Given the description of an element on the screen output the (x, y) to click on. 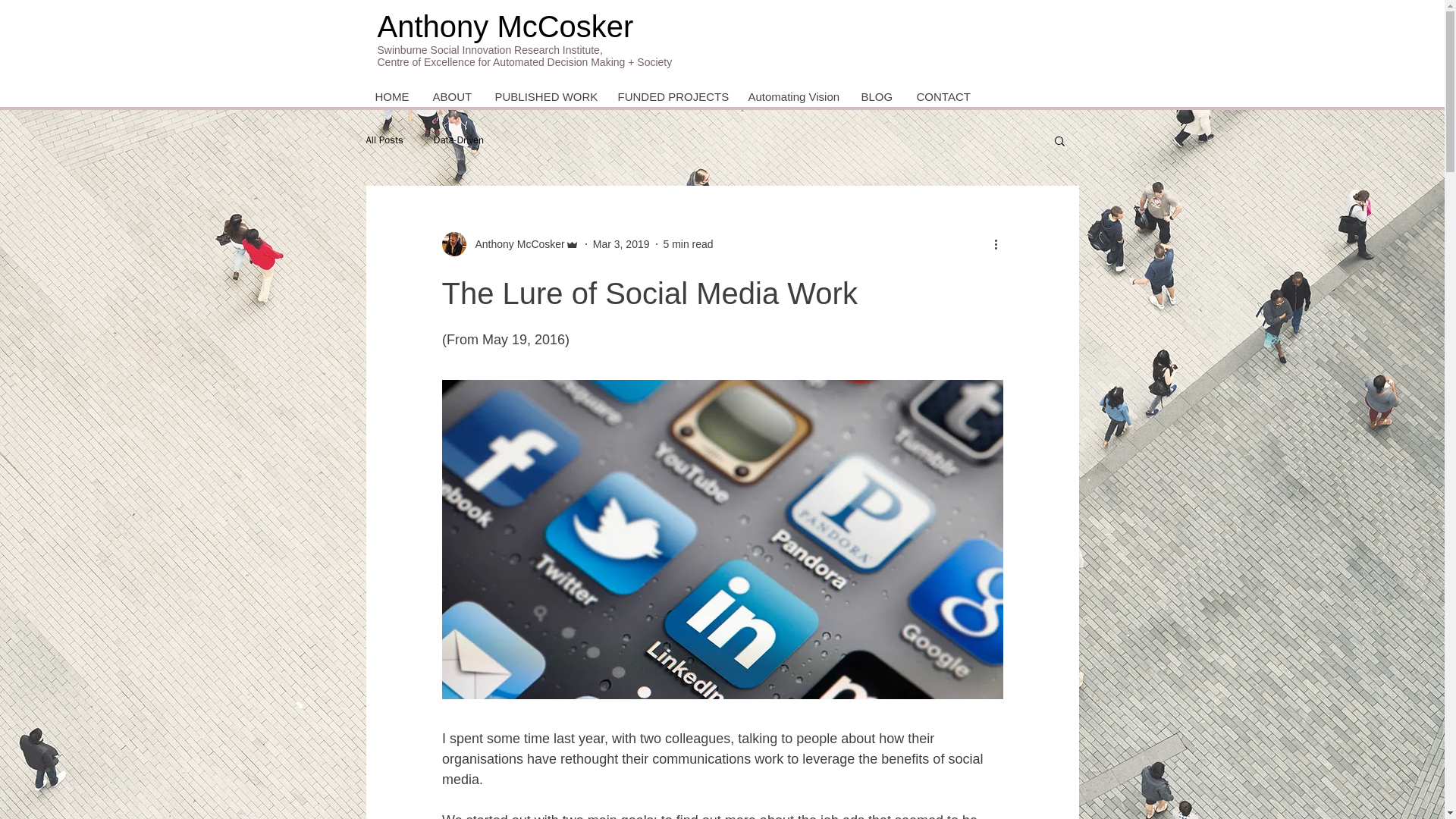
Mar 3, 2019 (620, 244)
HOME (392, 96)
5 min read (687, 244)
PUBLISHED WORK (543, 96)
All Posts (384, 140)
Data-Driven (458, 140)
FUNDED PROJECTS (670, 96)
Automating Vision (791, 96)
CONTACT (941, 96)
Anthony McCosker (514, 244)
BLOG (876, 96)
ABOUT (450, 96)
